Given the description of an element on the screen output the (x, y) to click on. 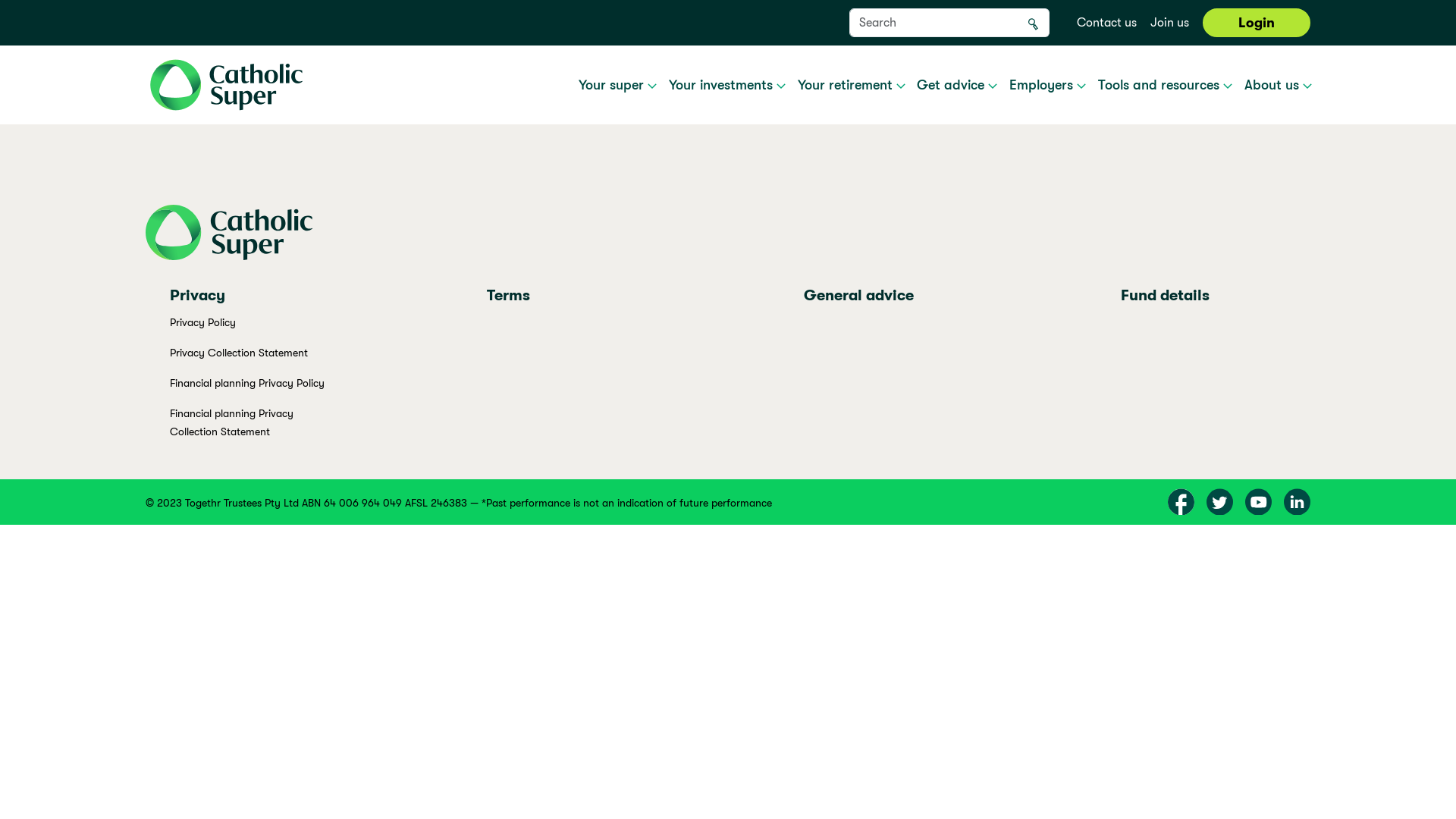
About us   Element type: text (1277, 84)
Privacy Collection Statement Element type: text (238, 351)
Privacy Policy Element type: text (202, 321)
Financial planning Privacy Collection Statement Element type: text (231, 421)
Contact us Element type: text (1106, 22)
Terms Element type: text (508, 301)
Employers   Element type: text (1047, 84)
Join us Element type: text (1169, 22)
General advice Element type: text (858, 301)
Your retirement   Element type: text (851, 84)
Tools and resources   Element type: text (1165, 84)
Financial planning Privacy Policy Element type: text (246, 382)
Privacy Element type: text (197, 301)
Your super   Element type: text (617, 84)
Fund details Element type: text (1164, 301)
Get advice   Element type: text (956, 84)
Your investments   Element type: text (726, 84)
Login Element type: text (1256, 22)
